Given the description of an element on the screen output the (x, y) to click on. 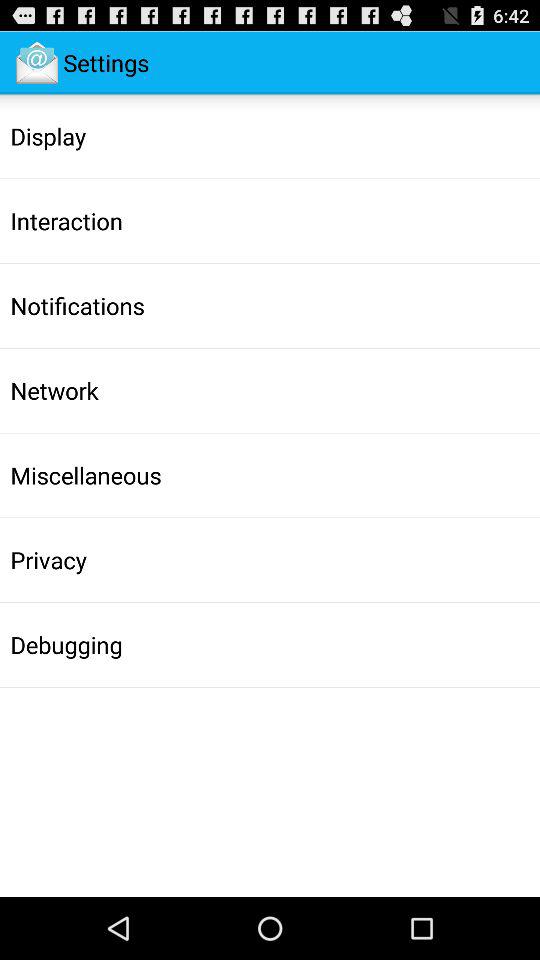
press the app below the interaction icon (77, 305)
